Given the description of an element on the screen output the (x, y) to click on. 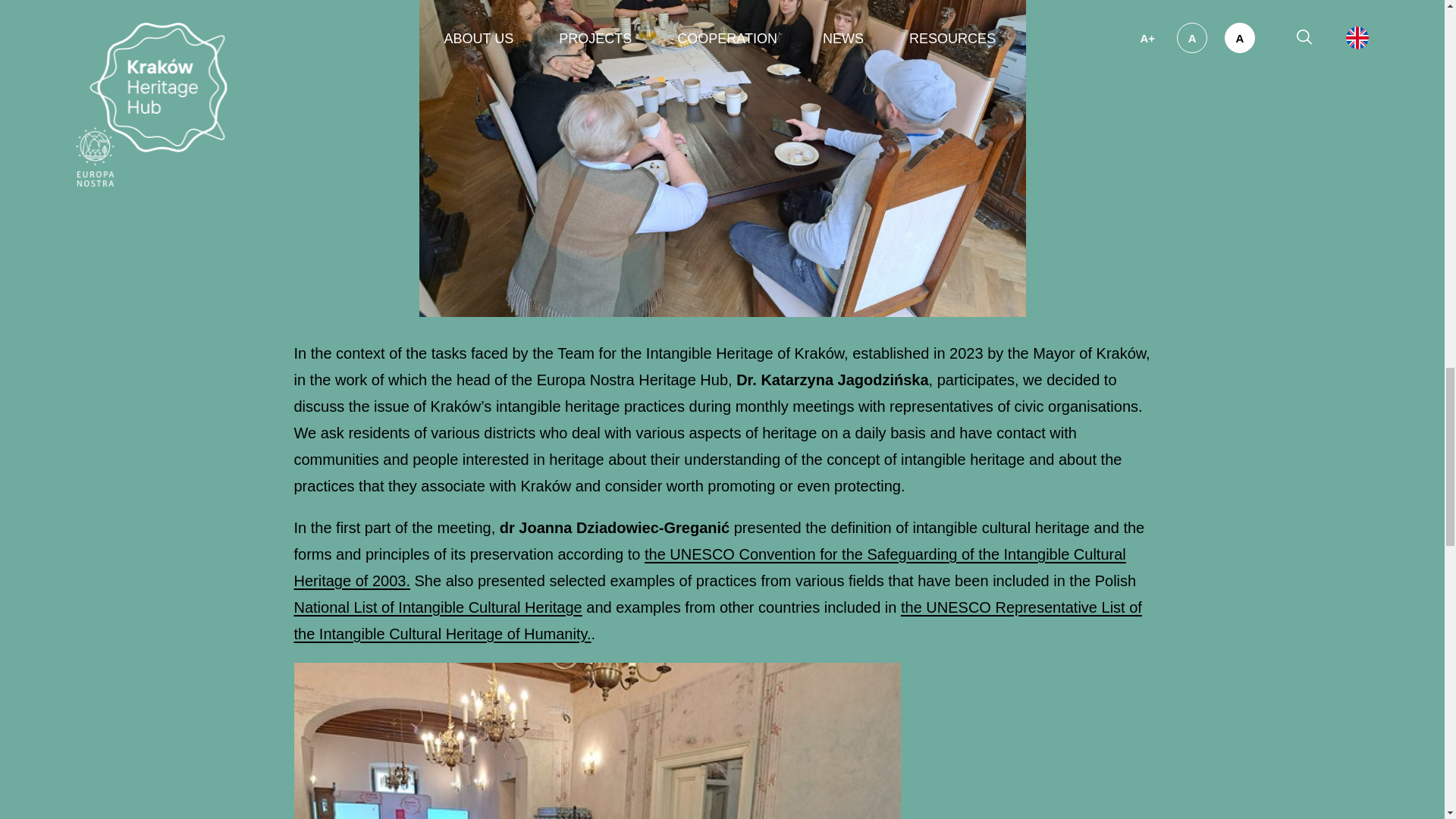
National List of Intangible Cultural Heritage (438, 606)
